Given the description of an element on the screen output the (x, y) to click on. 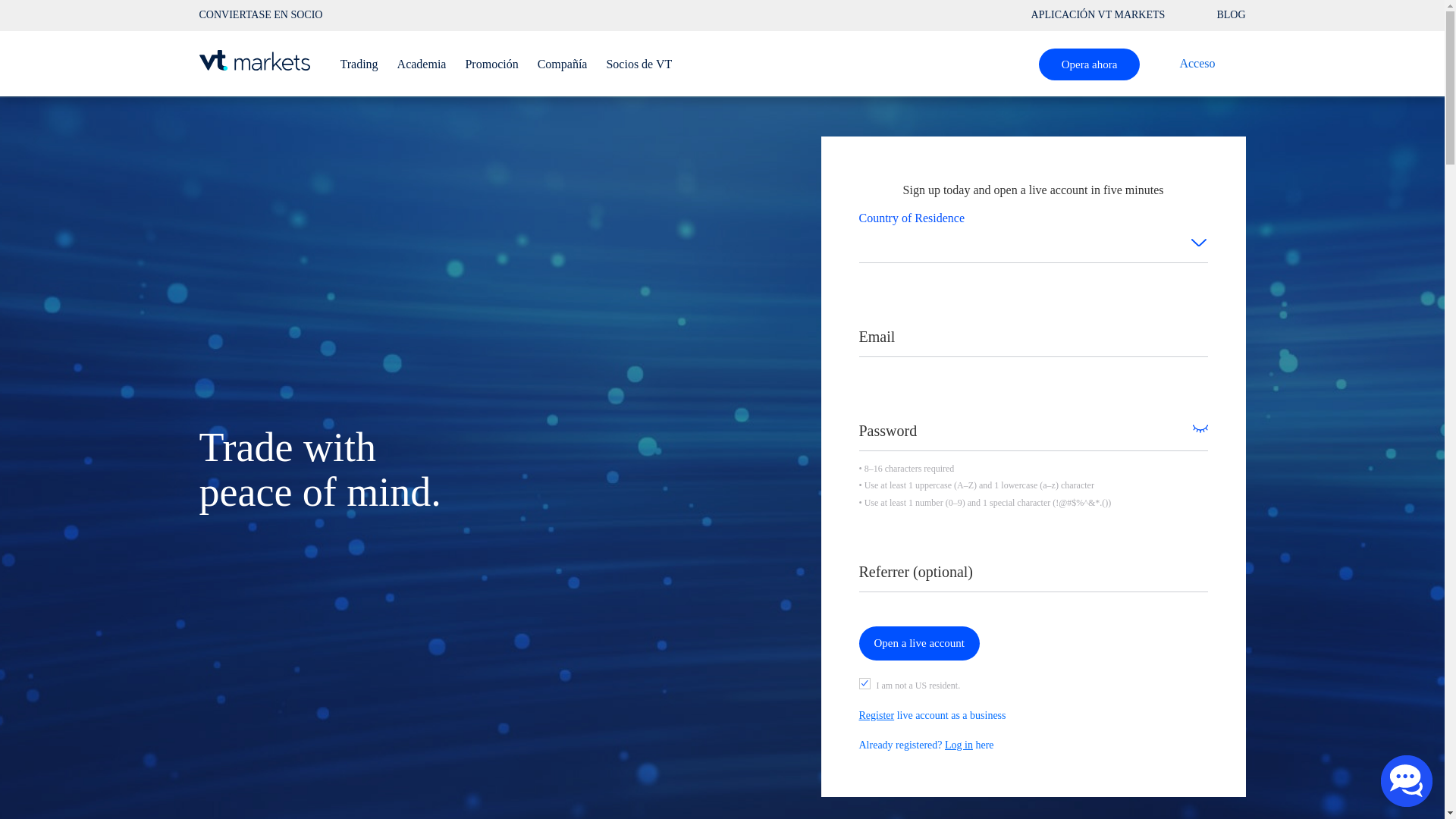
VT Markets (253, 59)
